Given the description of an element on the screen output the (x, y) to click on. 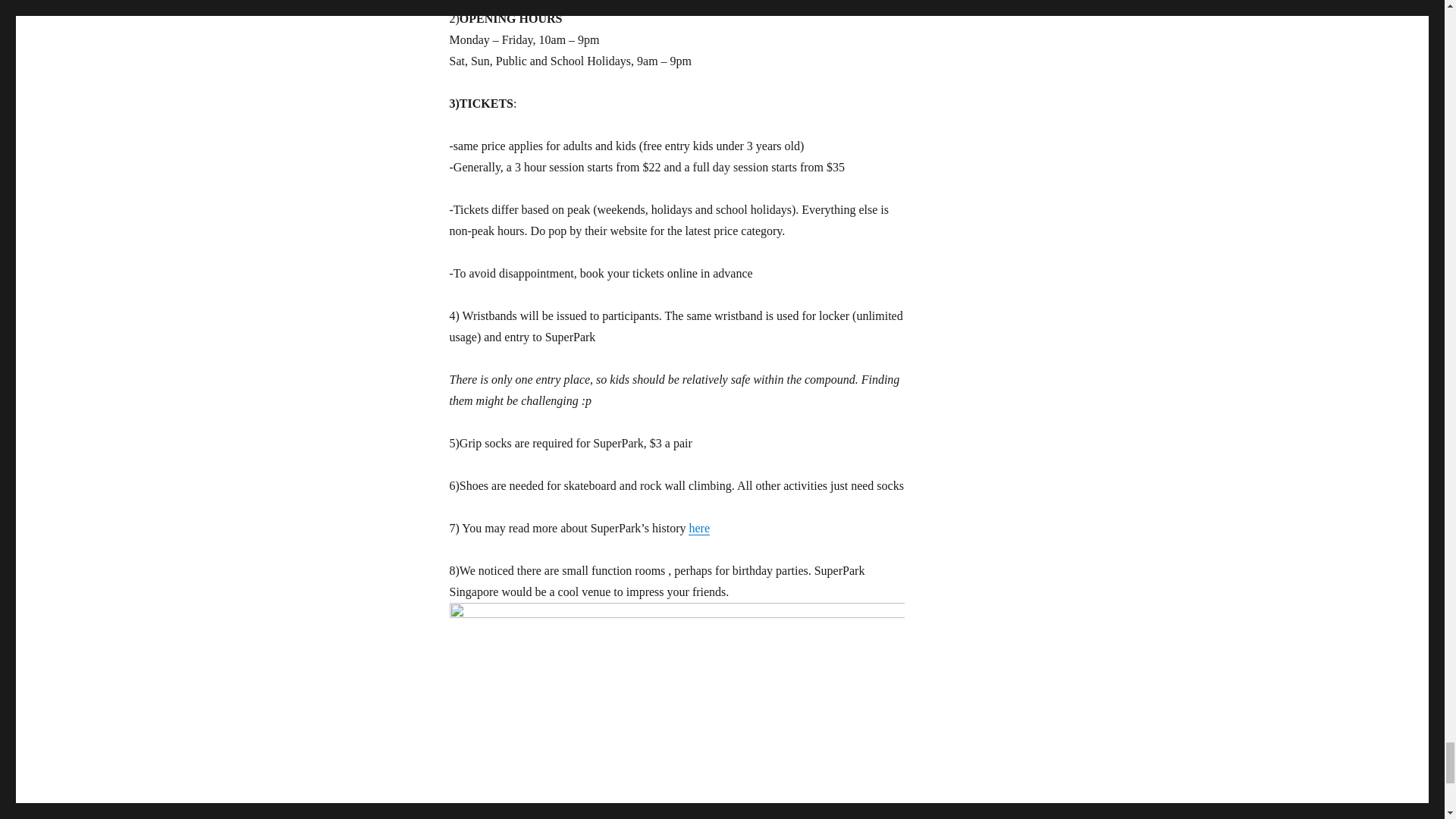
here (699, 527)
